Given the description of an element on the screen output the (x, y) to click on. 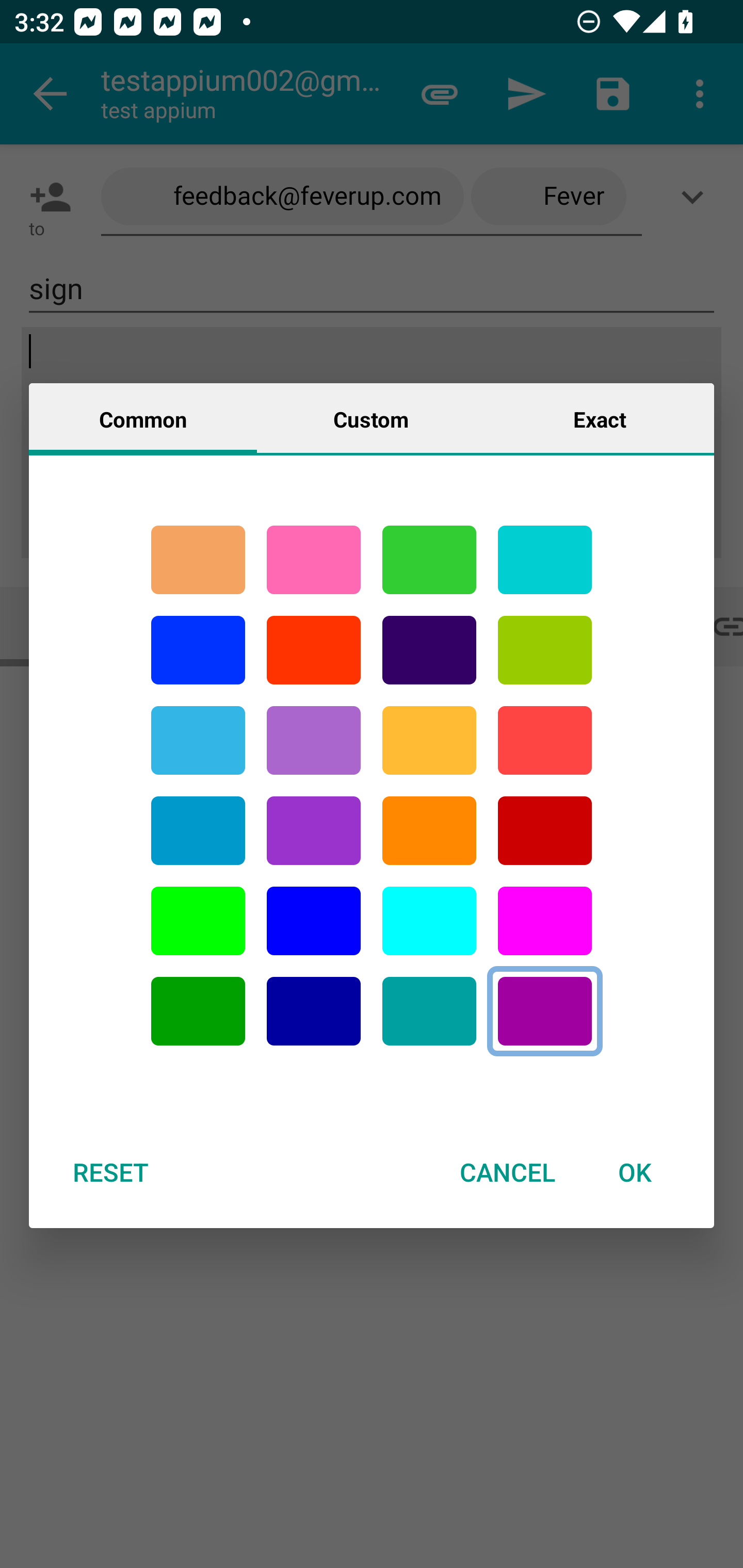
Common (142, 418)
Custom (371, 418)
Exact (599, 418)
Peach (197, 559)
Pink (313, 559)
Green (429, 559)
Cyan (544, 559)
Blue (197, 649)
Red (313, 649)
Dark purple (429, 649)
Light green (544, 649)
Cyan (197, 739)
Purple (313, 739)
Light orange (429, 739)
Light red (544, 739)
Dark cyan (197, 830)
Purple (313, 830)
Orange (429, 830)
Dark red (544, 830)
Light green (197, 920)
Blue (313, 920)
Light cyan (429, 920)
Light purple (544, 920)
Dark green (197, 1010)
Dark blue (313, 1010)
Cyan (429, 1010)
Purple (544, 1010)
RESET (110, 1171)
CANCEL (507, 1171)
OK (634, 1171)
